Given the description of an element on the screen output the (x, y) to click on. 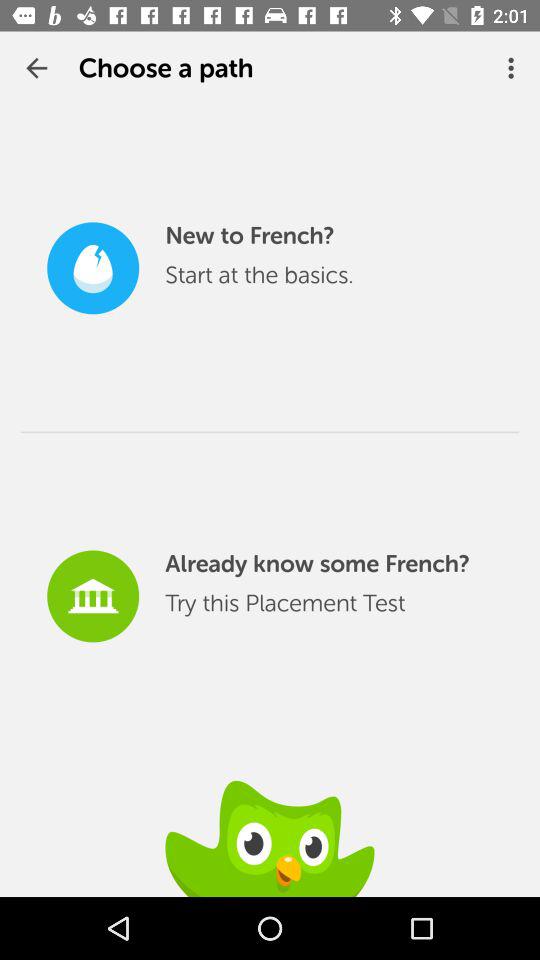
choose icon at the top right corner (513, 67)
